Given the description of an element on the screen output the (x, y) to click on. 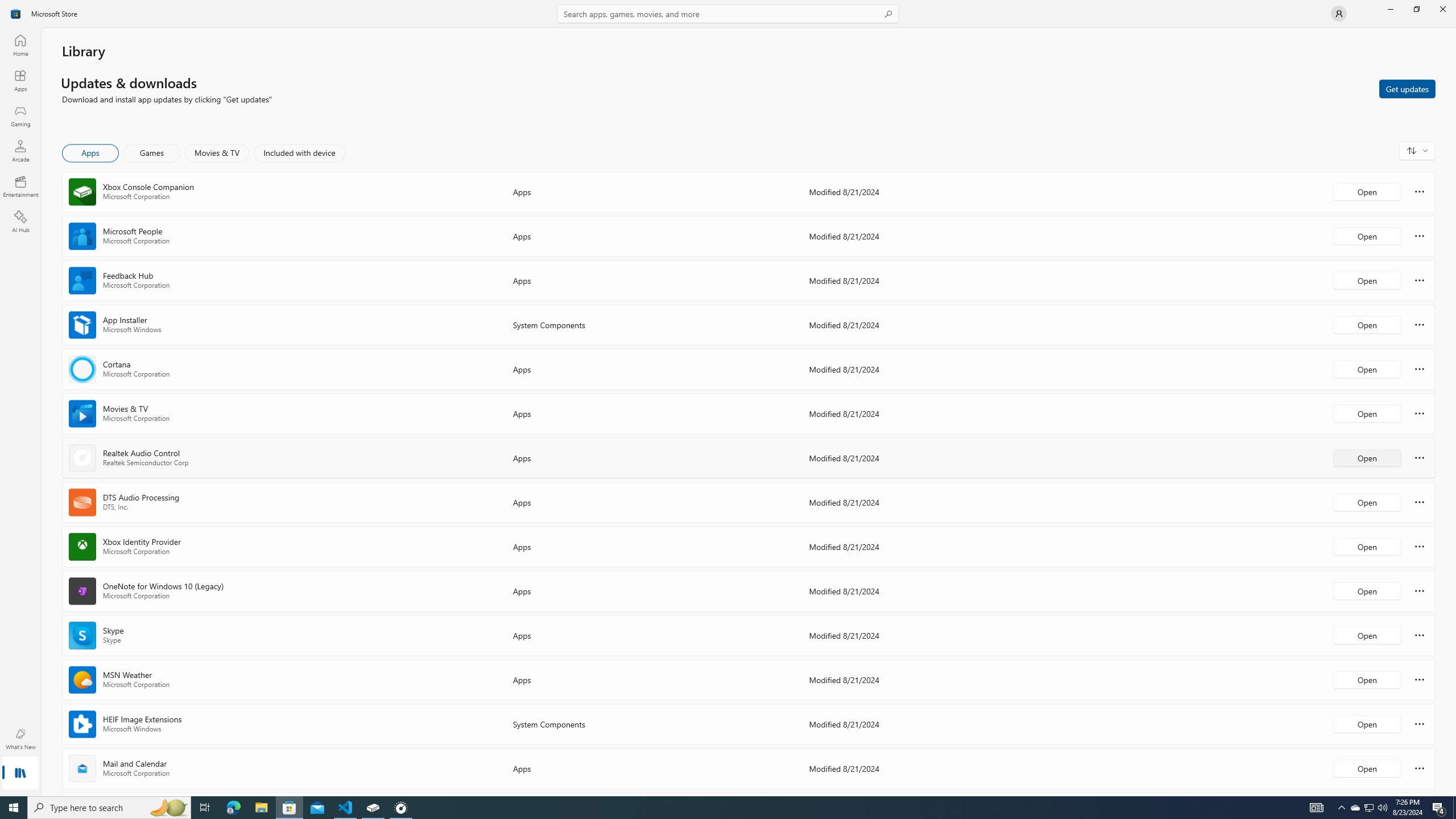
Games (151, 153)
What's New (20, 738)
Gaming (20, 115)
Library (20, 773)
Minimize Microsoft Store (1390, 9)
Search (727, 13)
Open (1366, 768)
Apps (20, 80)
